Given the description of an element on the screen output the (x, y) to click on. 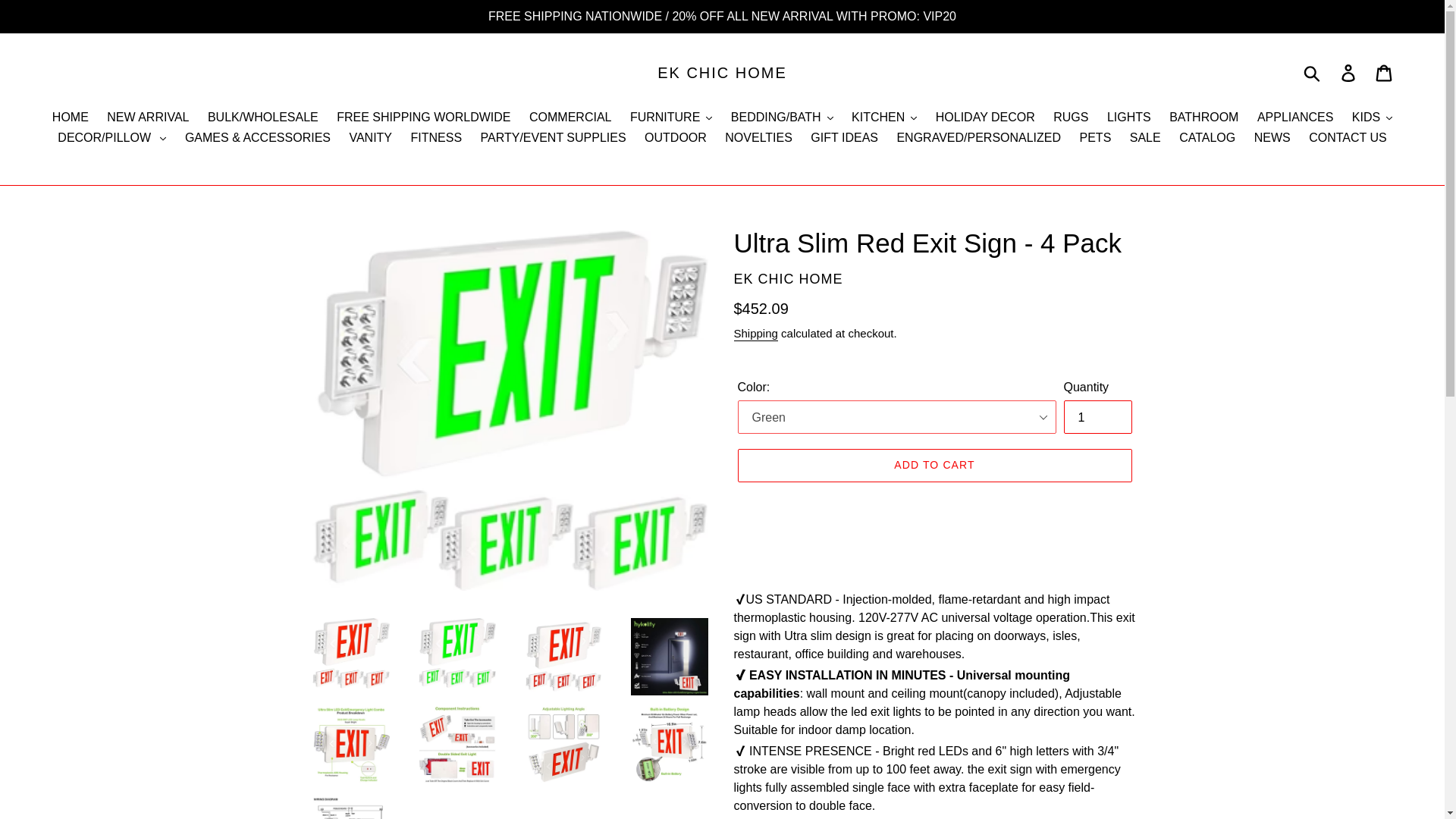
Submit (1313, 72)
1 (1096, 417)
Log in (1349, 72)
Cart (1385, 72)
EK CHIC HOME (722, 72)
